Given the description of an element on the screen output the (x, y) to click on. 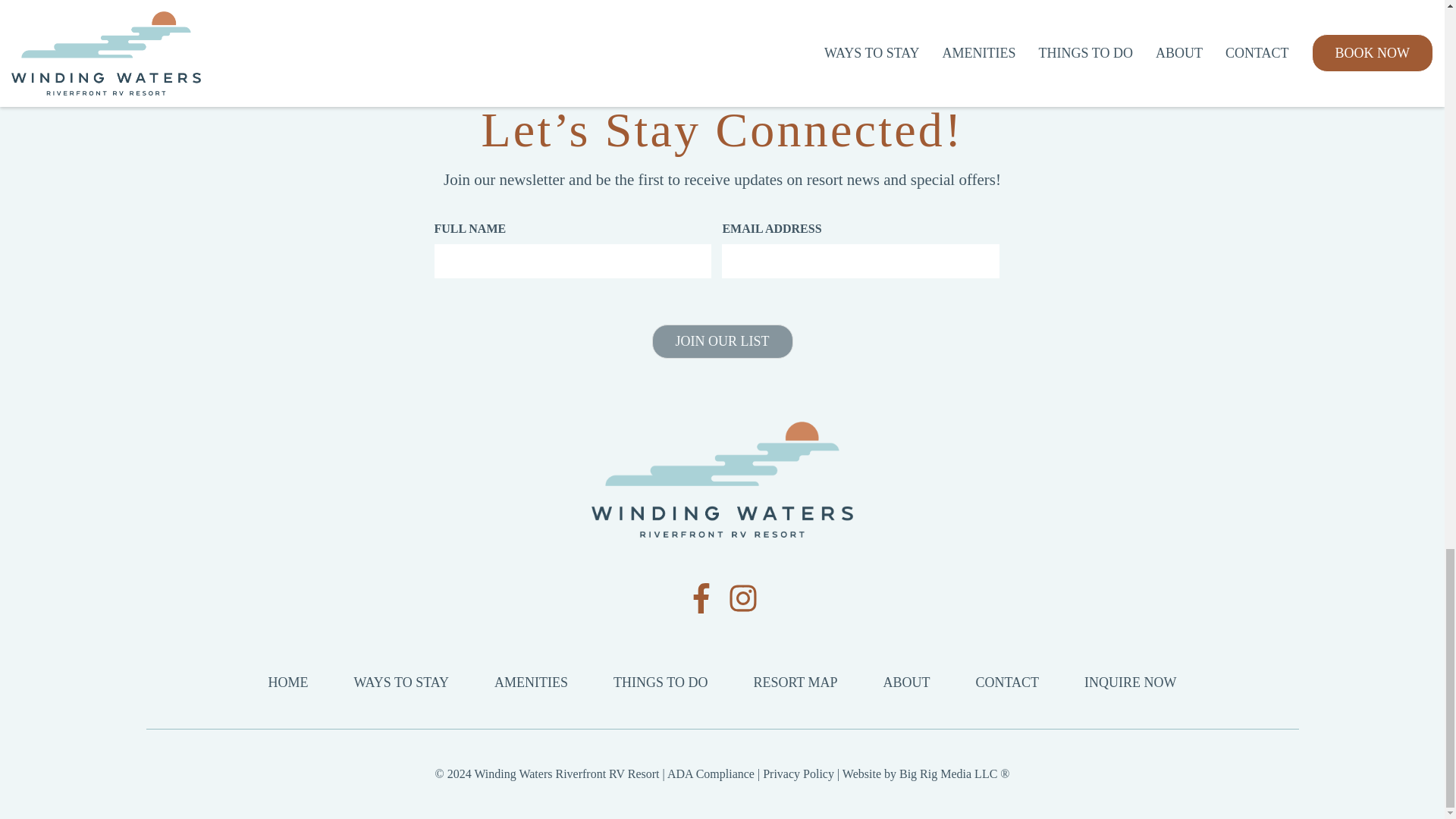
CONTACT (1007, 682)
THINGS TO DO (659, 682)
Privacy Policy (798, 773)
WAYS TO STAY (400, 682)
ABOUT (906, 682)
Join Our List (722, 341)
Join Our List (722, 341)
ADA Compliance (710, 773)
HOME (287, 682)
AMENITIES (531, 682)
